Given the description of an element on the screen output the (x, y) to click on. 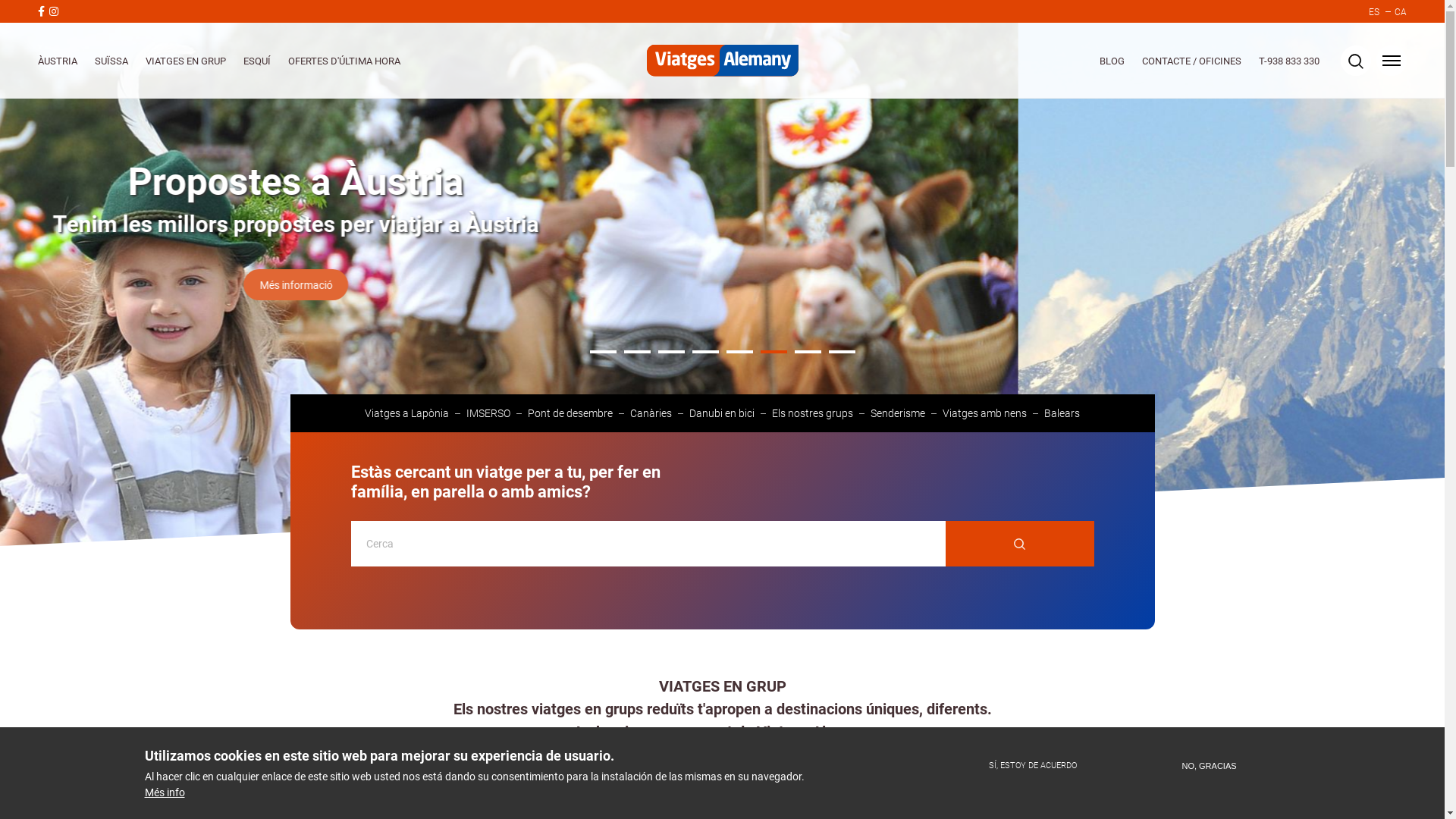
Inici Element type: hover (721, 59)
CA Element type: text (1400, 11)
Cerca Element type: text (1018, 543)
4 Element type: text (704, 353)
Viatges amb nens Element type: text (984, 413)
CONTACTE / OFICINES Element type: text (1191, 60)
6 Element type: text (772, 353)
1 Element type: text (602, 353)
Els fiords noruecs en grup Element type: text (533, 779)
VIATGES EN GRUP Element type: text (185, 60)
BLOG Element type: text (1111, 60)
ES Element type: text (1373, 11)
7 Element type: text (807, 353)
Balears Element type: text (1061, 413)
Cap de setmana a Lourdes Element type: text (701, 779)
Cerca Element type: text (869, 409)
3 Element type: text (671, 353)
Creuer a Egipte Element type: text (843, 779)
5 Element type: text (739, 353)
T-938 833 330 Element type: text (1288, 60)
2 Element type: text (636, 353)
8 Element type: text (841, 353)
Pont de desembre Element type: text (569, 413)
Els nostres grups Element type: text (812, 413)
NO, GRACIAS Element type: text (1209, 765)
IMSERSO Element type: text (488, 413)
Danubi en bici Element type: text (721, 413)
Senderisme Element type: text (897, 413)
Veure tots Element type: text (947, 779)
